Given the description of an element on the screen output the (x, y) to click on. 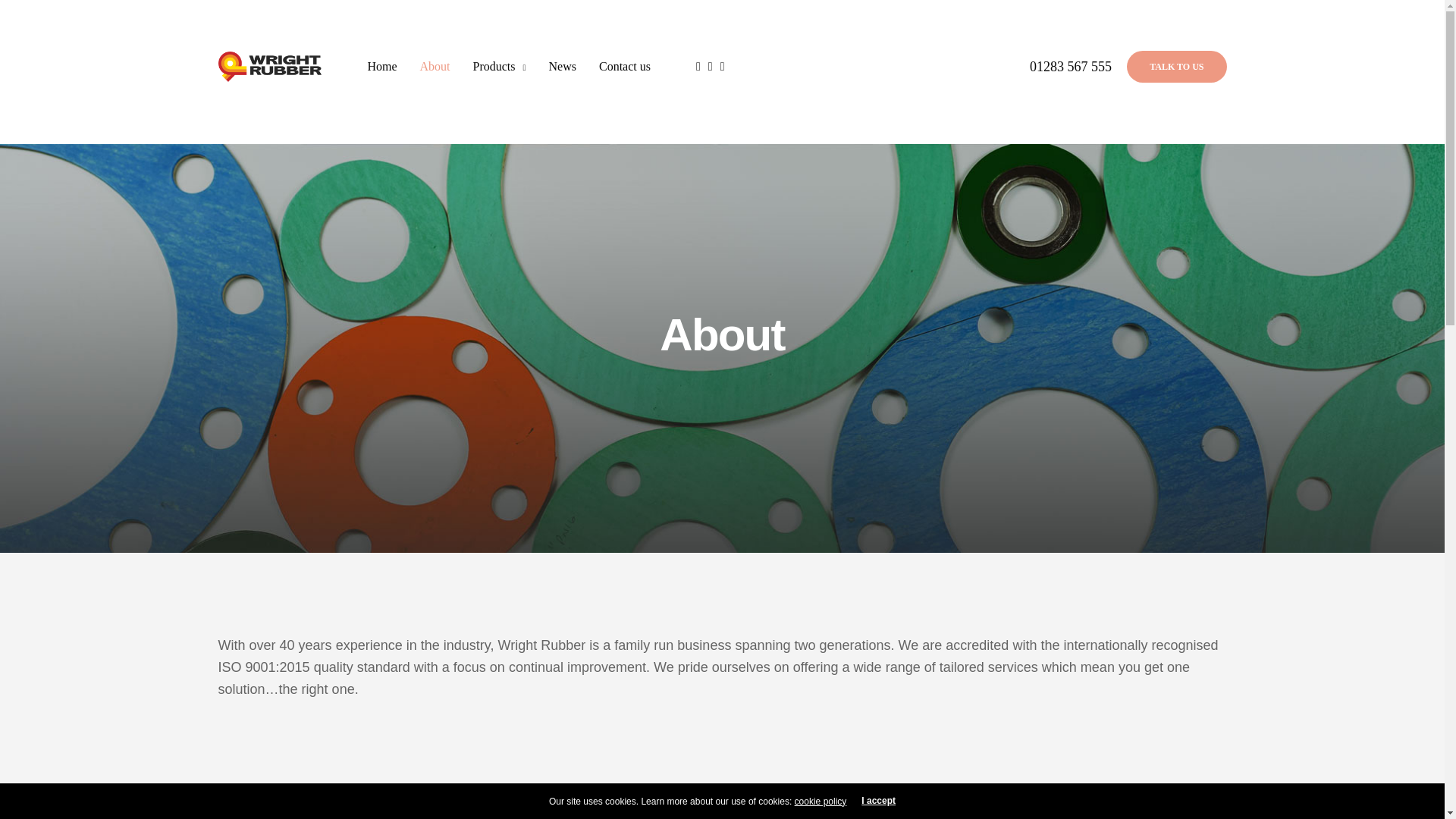
Products (498, 66)
Terms of Service (753, 737)
TALK TO US (1175, 66)
Facebook (783, 602)
Contact us (624, 66)
Home (381, 66)
GET IN TOUCH (720, 456)
Wright Rubber (269, 66)
Twitter (650, 602)
News (562, 66)
About (434, 66)
Instagram (711, 602)
Privacy Policy (684, 737)
TALK TO US (1175, 66)
